Given the description of an element on the screen output the (x, y) to click on. 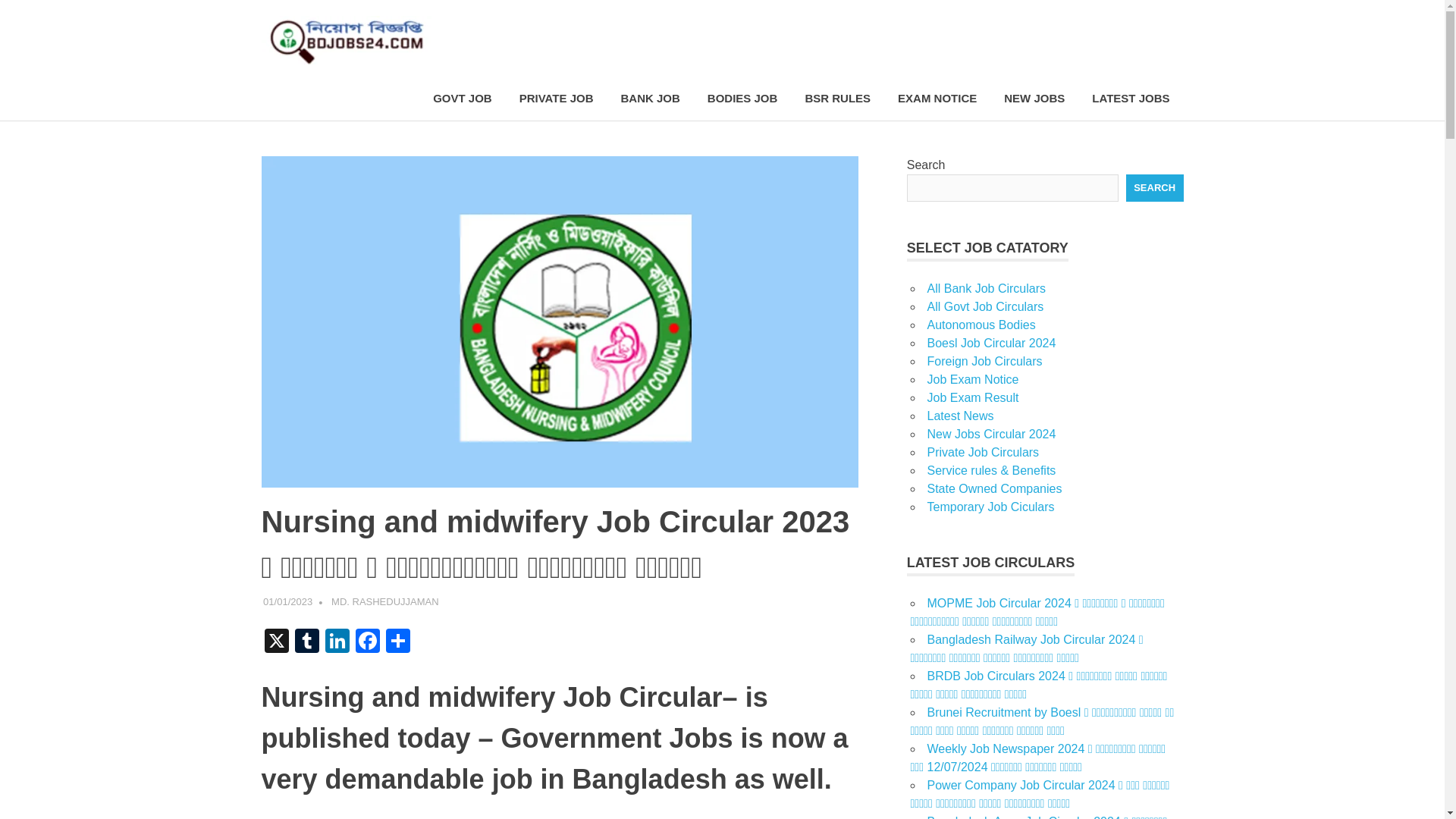
Tumblr (306, 642)
MD. RASHEDUJJAMAN (385, 601)
LinkedIn (336, 642)
X (275, 642)
9:53 pm (288, 601)
Tumblr (306, 642)
BODIES JOB (743, 98)
NEW JOBS (1034, 98)
PRIVATE JOB (556, 98)
BANK JOB (650, 98)
View all posts by Md. rashedujjaman (385, 601)
Share (396, 642)
Facebook (366, 642)
ALL GOVT JOB CIRCULARS (504, 601)
EXAM NOTICE (936, 98)
